Given the description of an element on the screen output the (x, y) to click on. 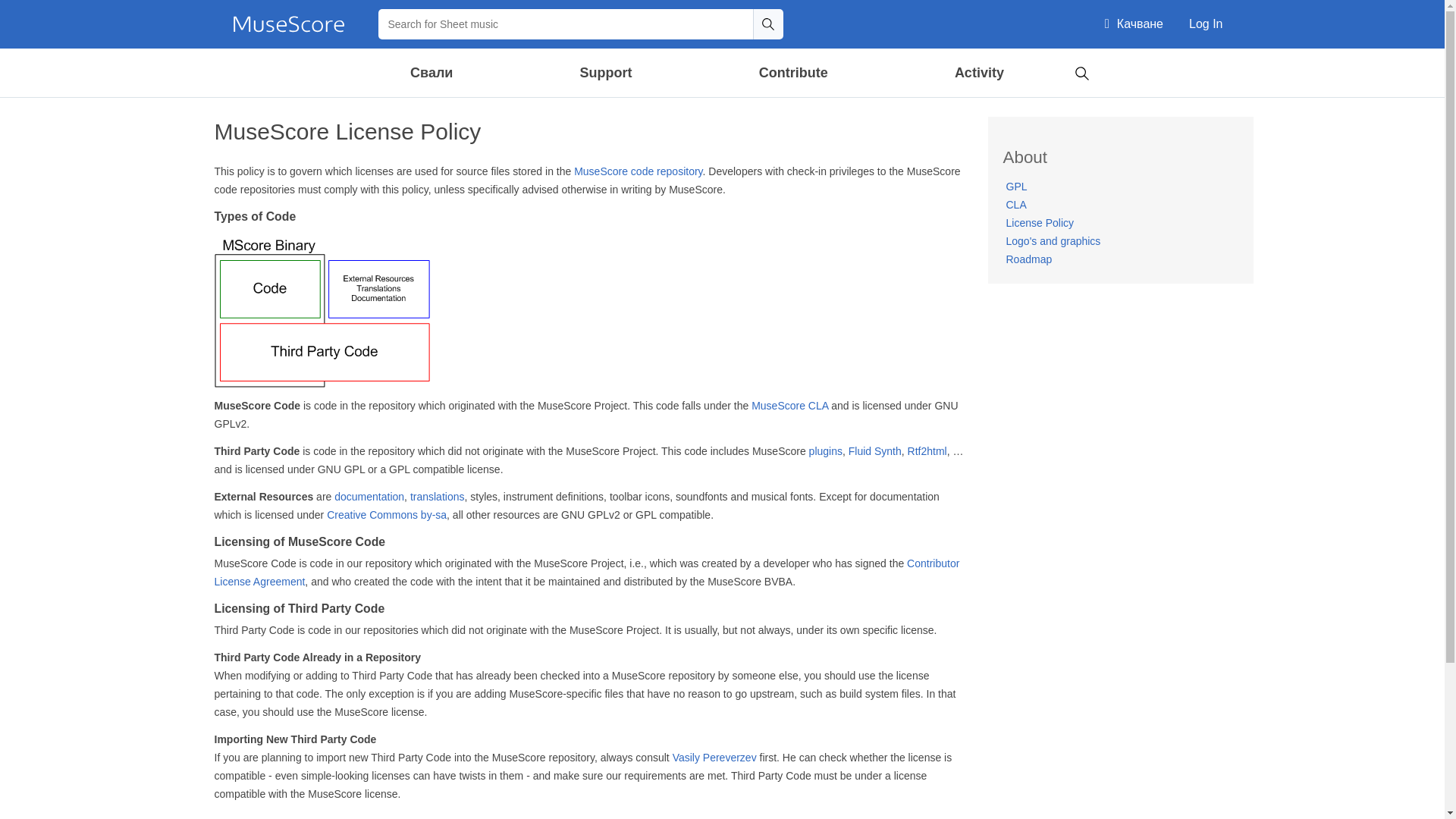
Contribute (793, 72)
Support (605, 72)
Activity (979, 72)
MuseScore (287, 23)
Log In (1205, 24)
